Given the description of an element on the screen output the (x, y) to click on. 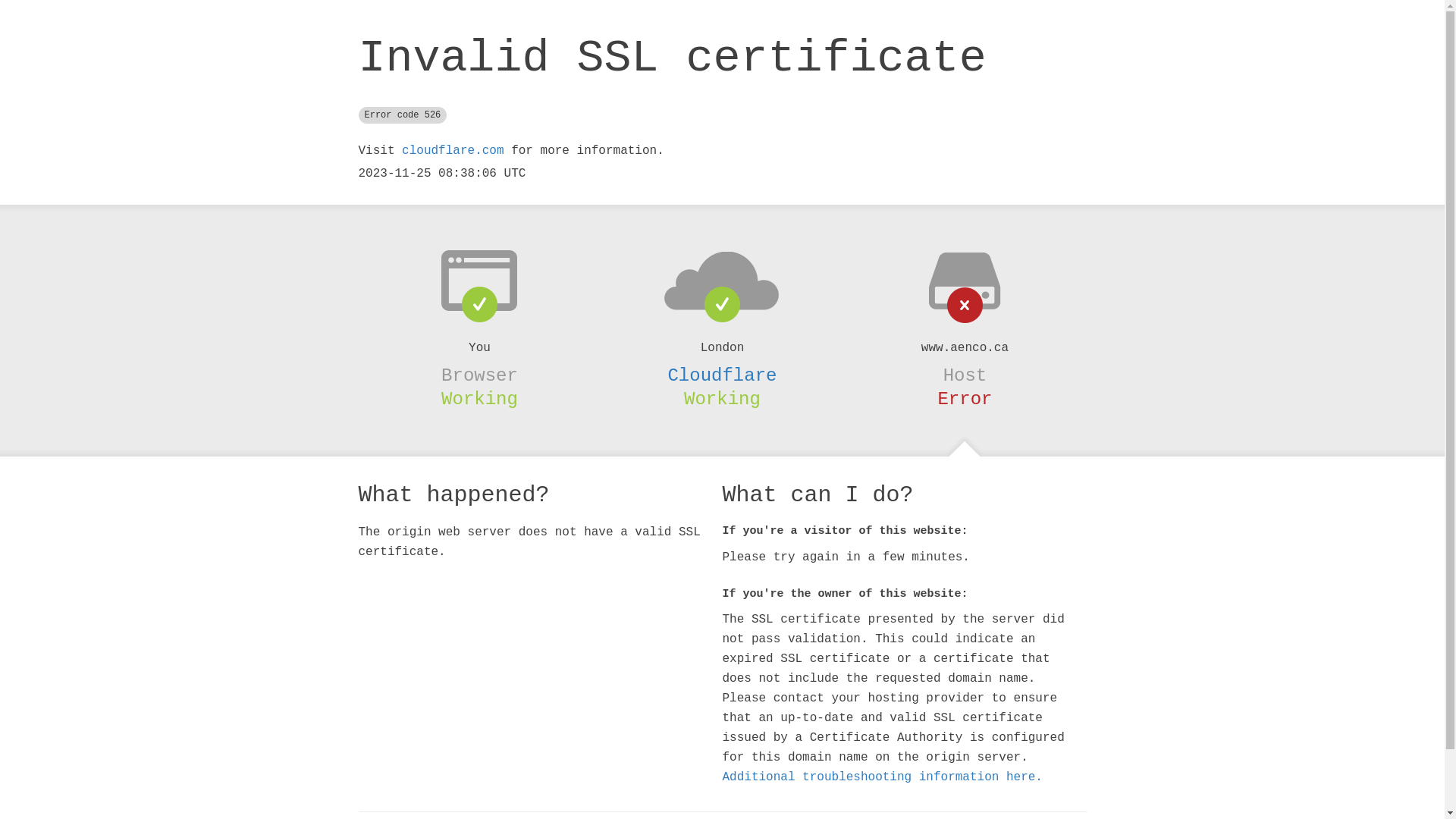
Cloudflare Element type: text (721, 375)
Additional troubleshooting information here. Element type: text (881, 777)
cloudflare.com Element type: text (452, 150)
